Given the description of an element on the screen output the (x, y) to click on. 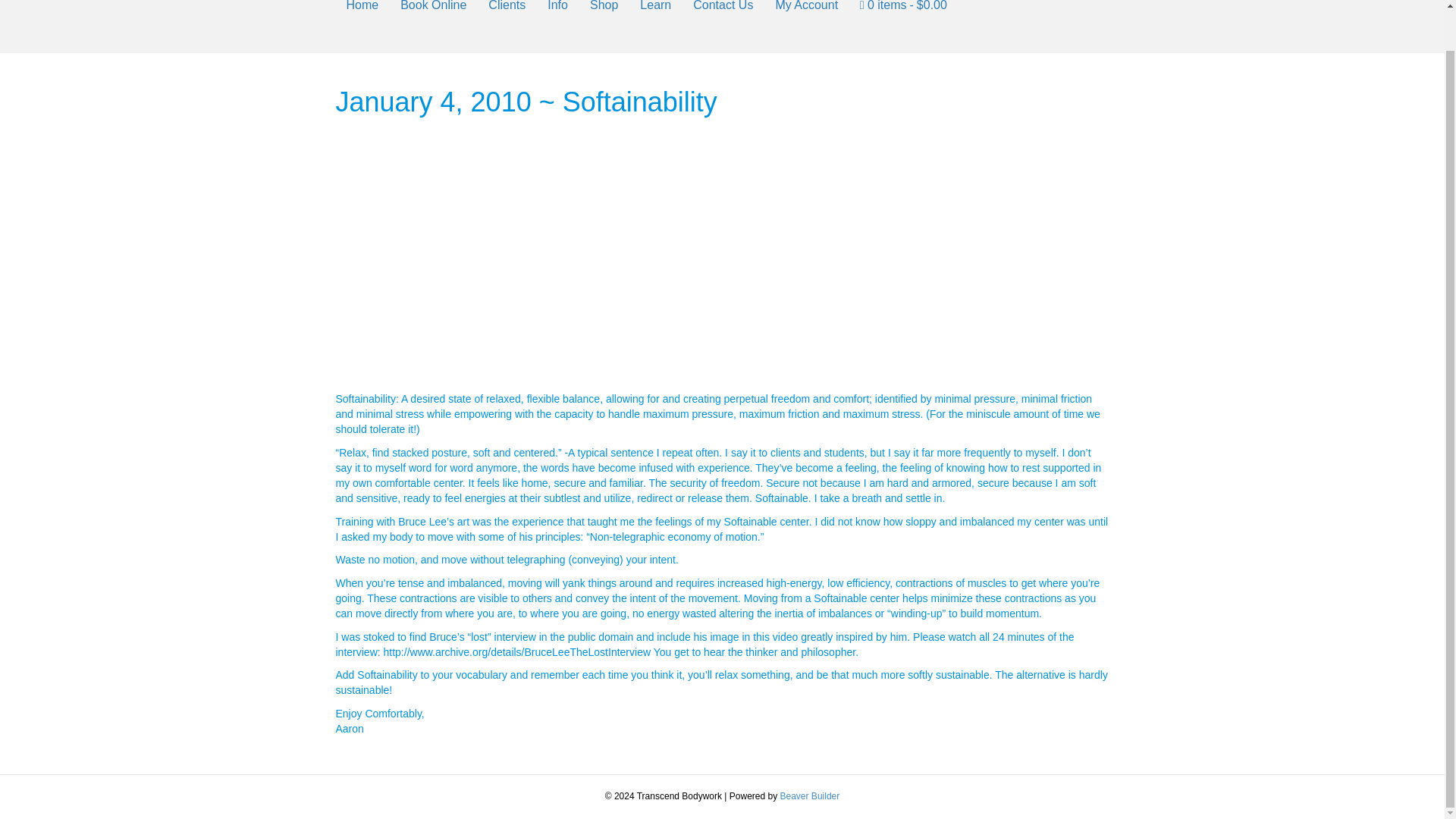
Clients (506, 11)
Shop (603, 11)
Home (361, 11)
Book Online (433, 11)
Contact Us (722, 11)
My Account (806, 11)
Beaver Builder (810, 796)
Start shopping (903, 11)
WordPress Page Builder Plugin (810, 796)
Learn (654, 11)
